Given the description of an element on the screen output the (x, y) to click on. 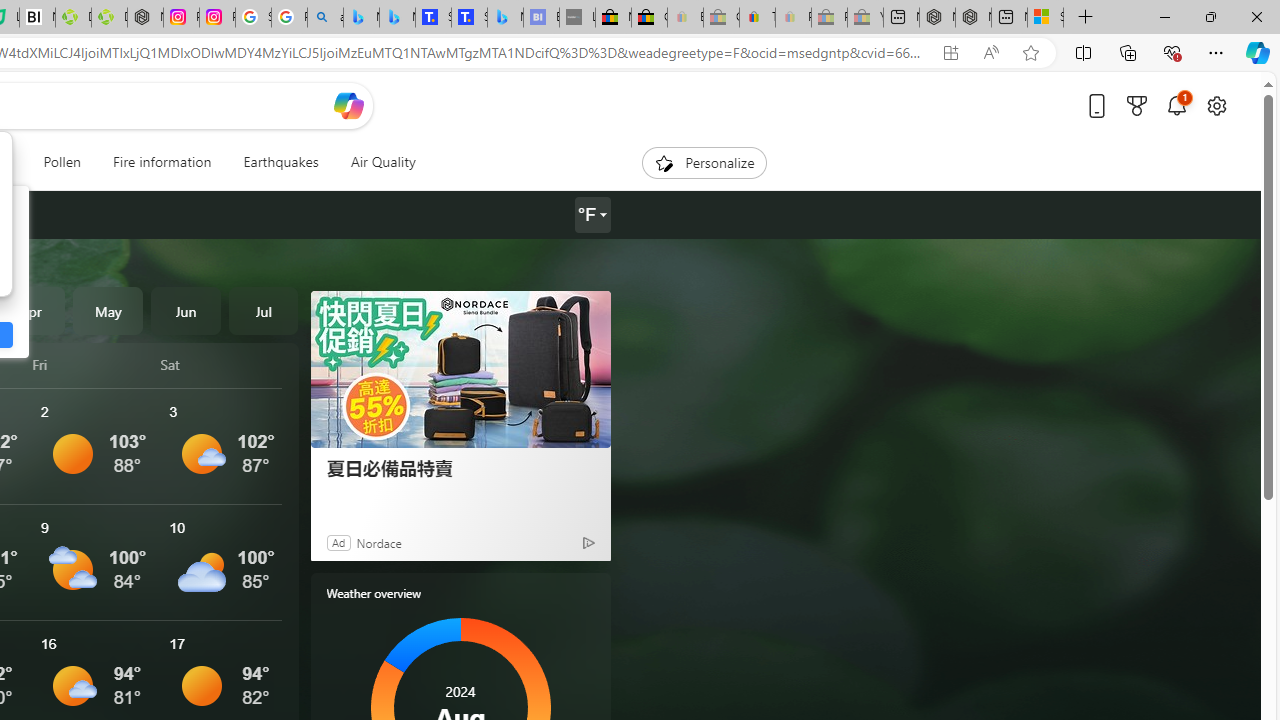
Earthquakes (280, 162)
Jul (263, 310)
App available. Install Microsoft Start Weather (950, 53)
Pollen (61, 162)
Yard, Garden & Outdoor Living - Sleeping (865, 17)
See More Details (221, 561)
